Given the description of an element on the screen output the (x, y) to click on. 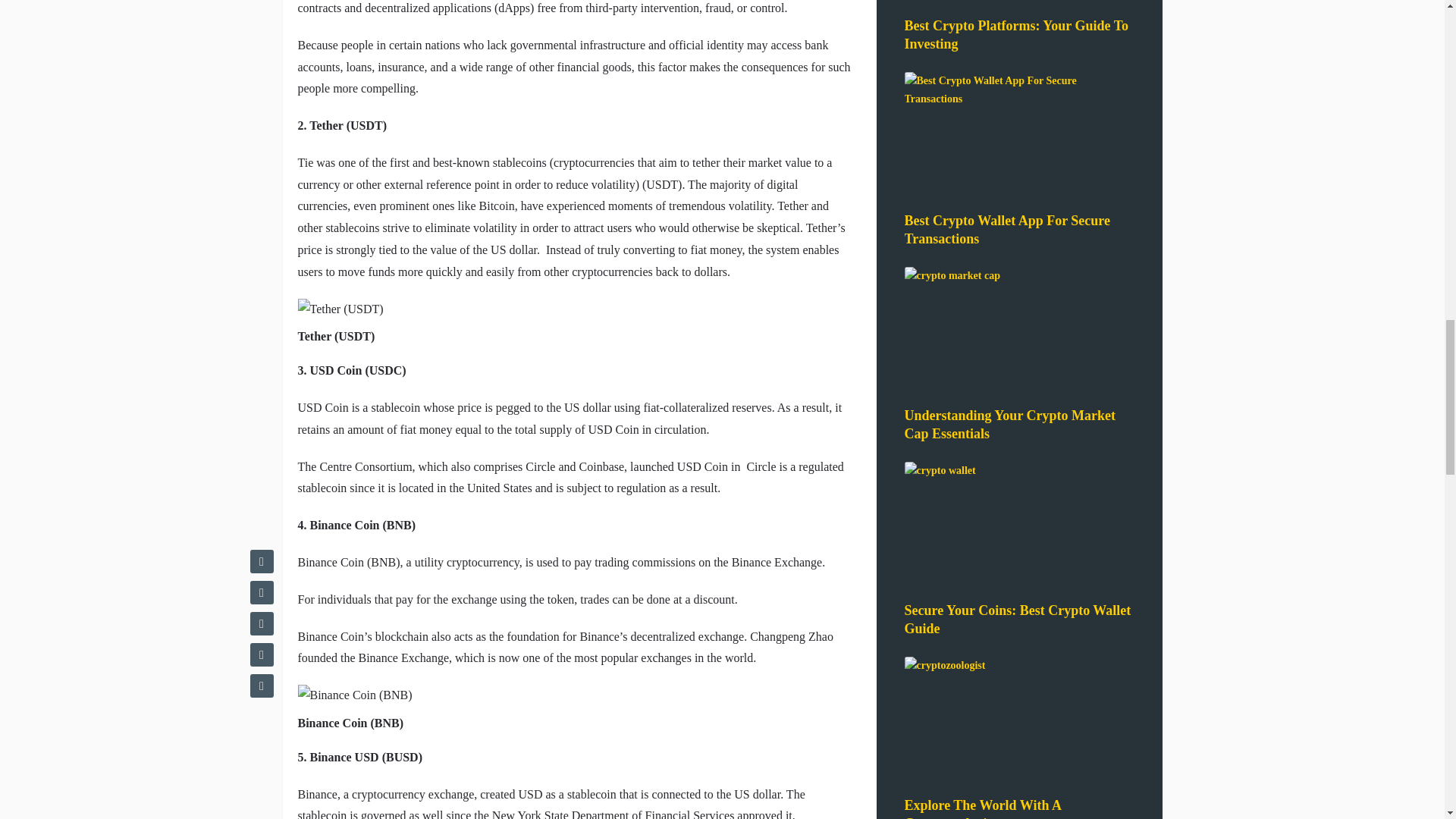
Understanding Your Crypto Market Cap Essentials (1009, 424)
Secure Your Coins: Best Crypto Wallet Guide (1017, 619)
Best Crypto Wallet App For Secure Transactions (1006, 229)
Best Crypto Platforms: Your Guide To Investing (1016, 34)
Explore The World With A Cryptozoologist (981, 808)
